Given the description of an element on the screen output the (x, y) to click on. 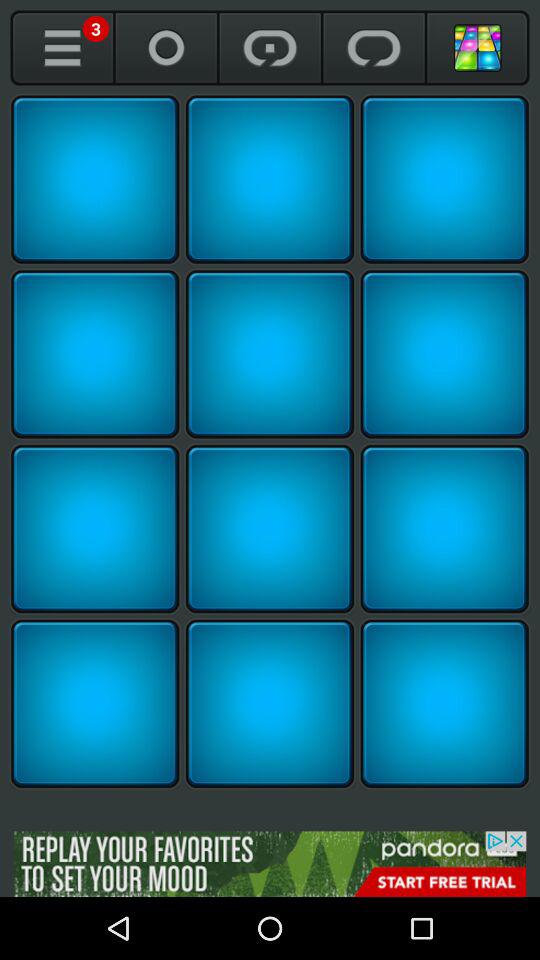
start the game (95, 529)
